Given the description of an element on the screen output the (x, y) to click on. 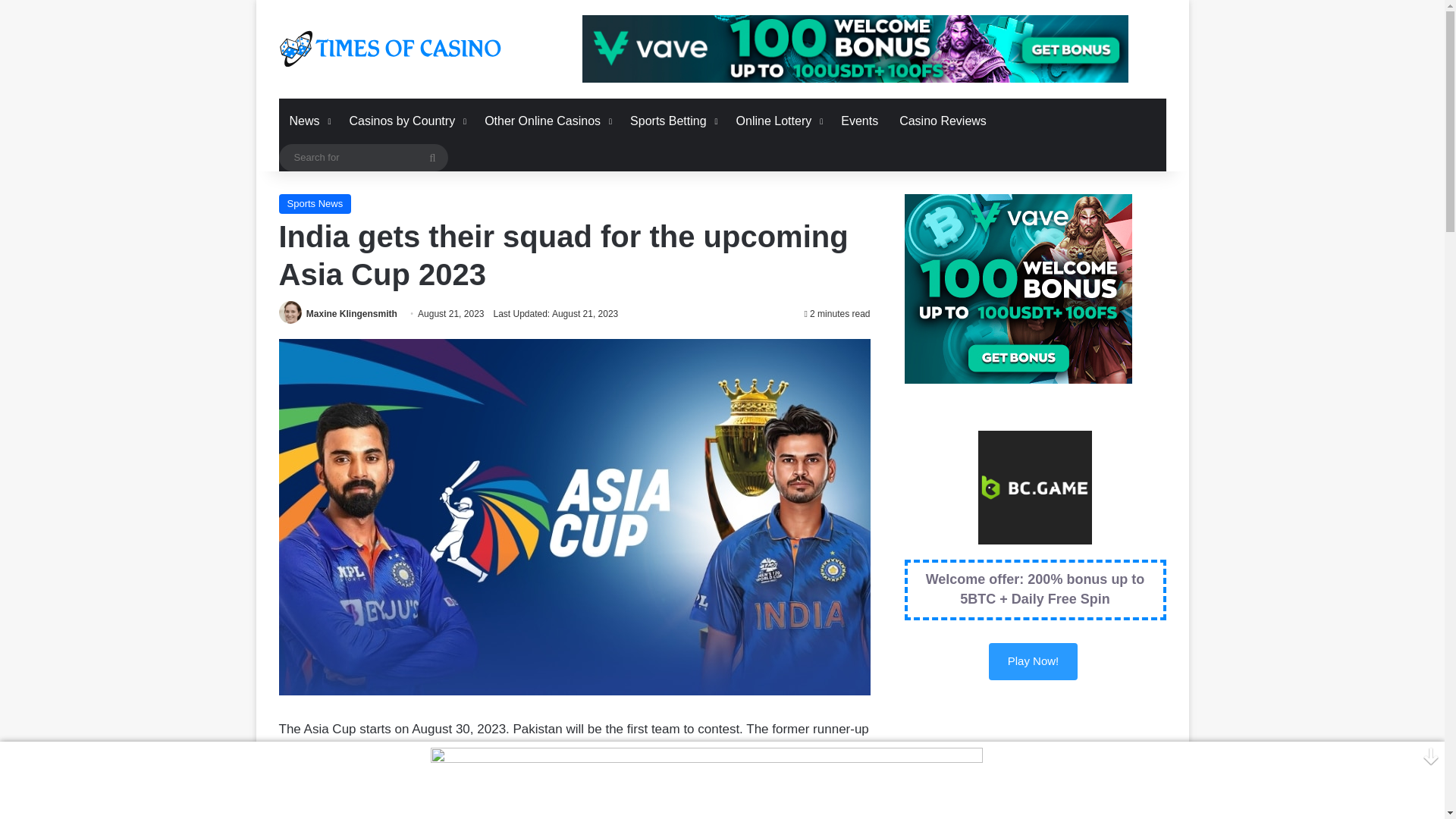
News (309, 121)
Search for (363, 157)
Bc.Game (1033, 661)
Other Online Casinos (547, 121)
Casinos by Country (406, 121)
Sports Betting (672, 121)
Maxine Klingensmith (351, 313)
